Given the description of an element on the screen output the (x, y) to click on. 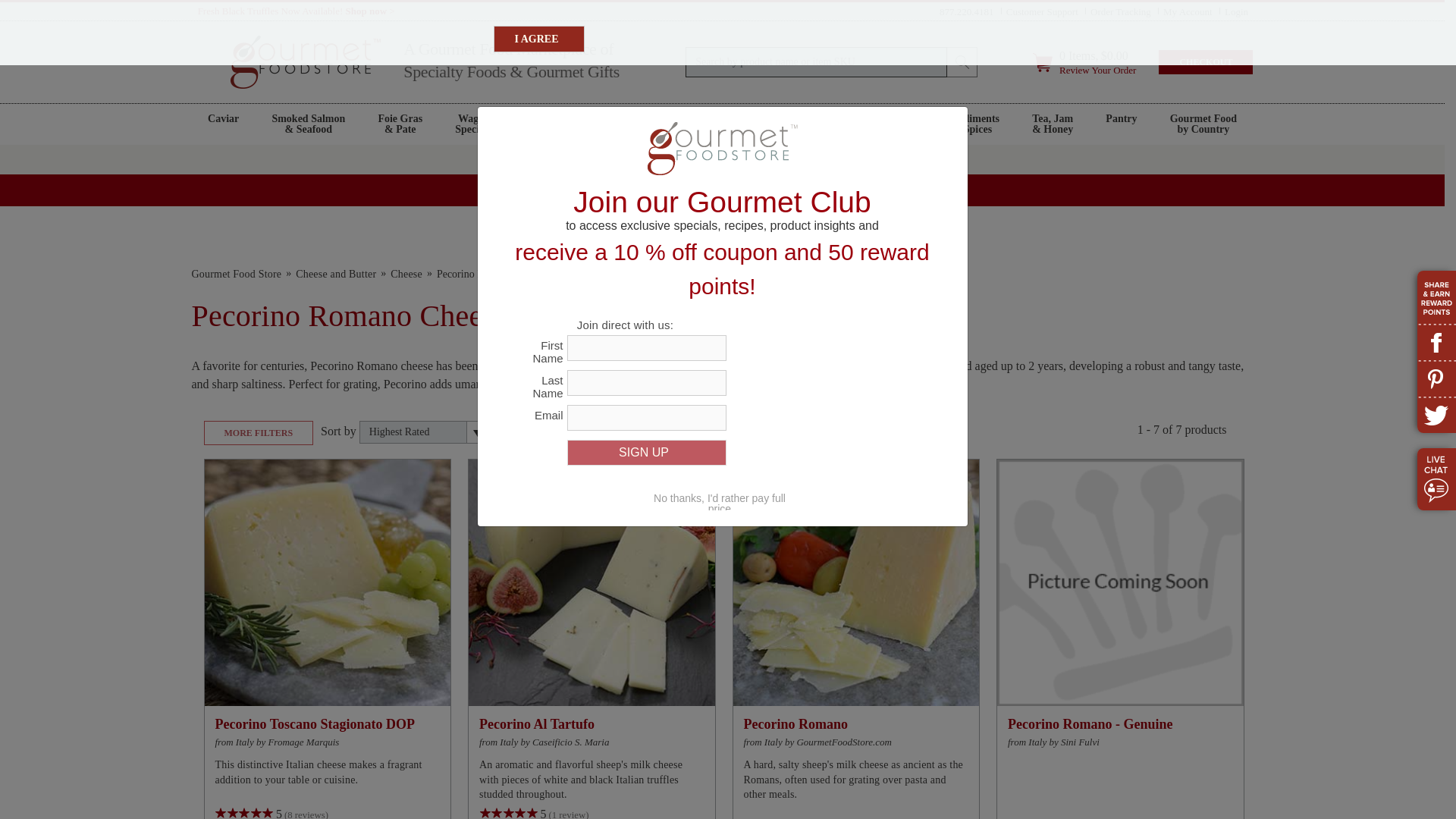
CHECKOUT (1205, 61)
Cheese (406, 274)
Cheese and Butter (335, 274)
Customer Support (1042, 10)
877.220.4181 (966, 10)
Pecorino Romano - Sheep Milk Cheese (855, 582)
Caviar (223, 124)
Pecorino Toscano Stagionato DOP (328, 582)
My Account (1187, 10)
Gourmet Food Store (235, 274)
